Given the description of an element on the screen output the (x, y) to click on. 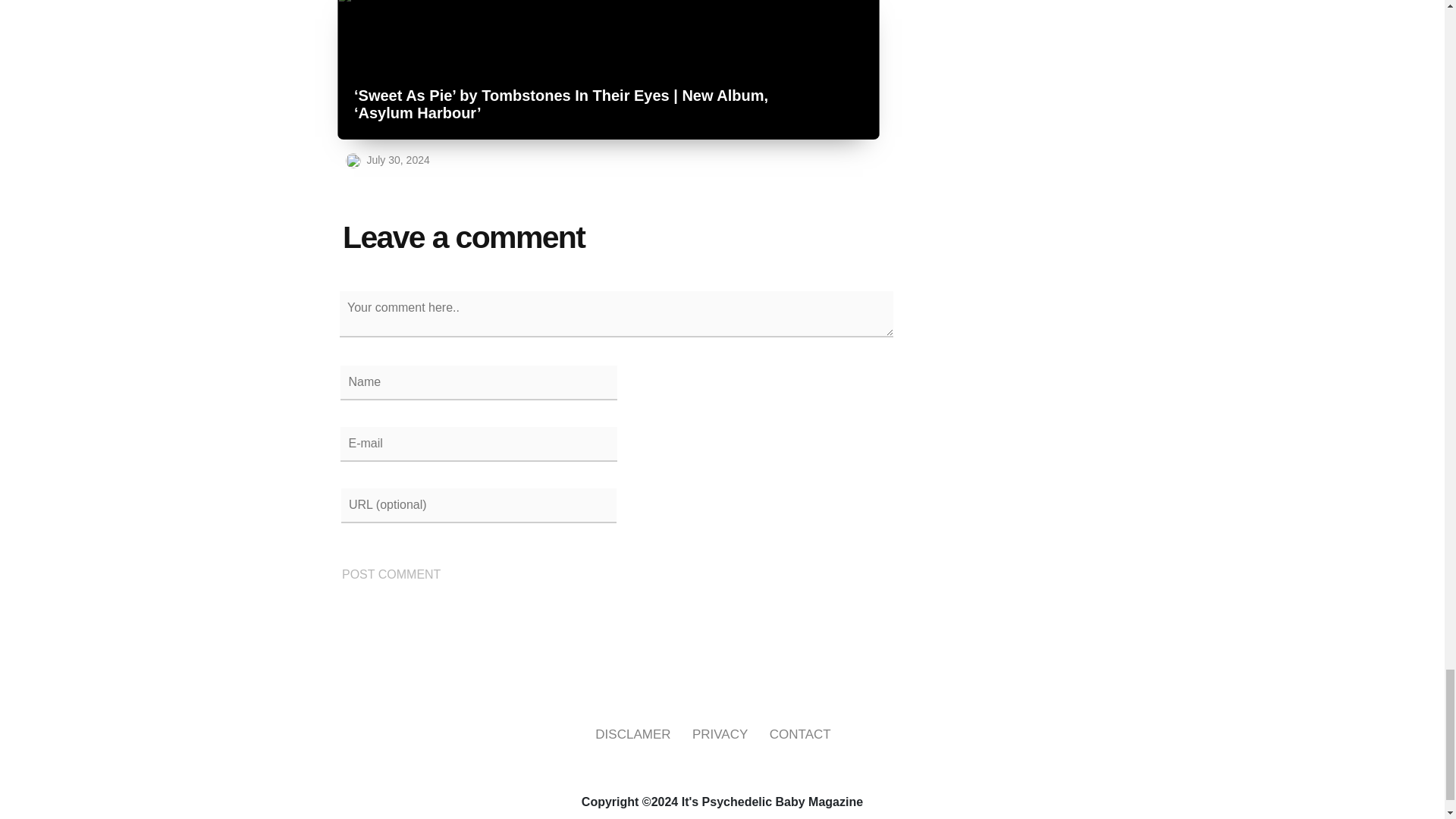
Post Comment (391, 574)
